Given the description of an element on the screen output the (x, y) to click on. 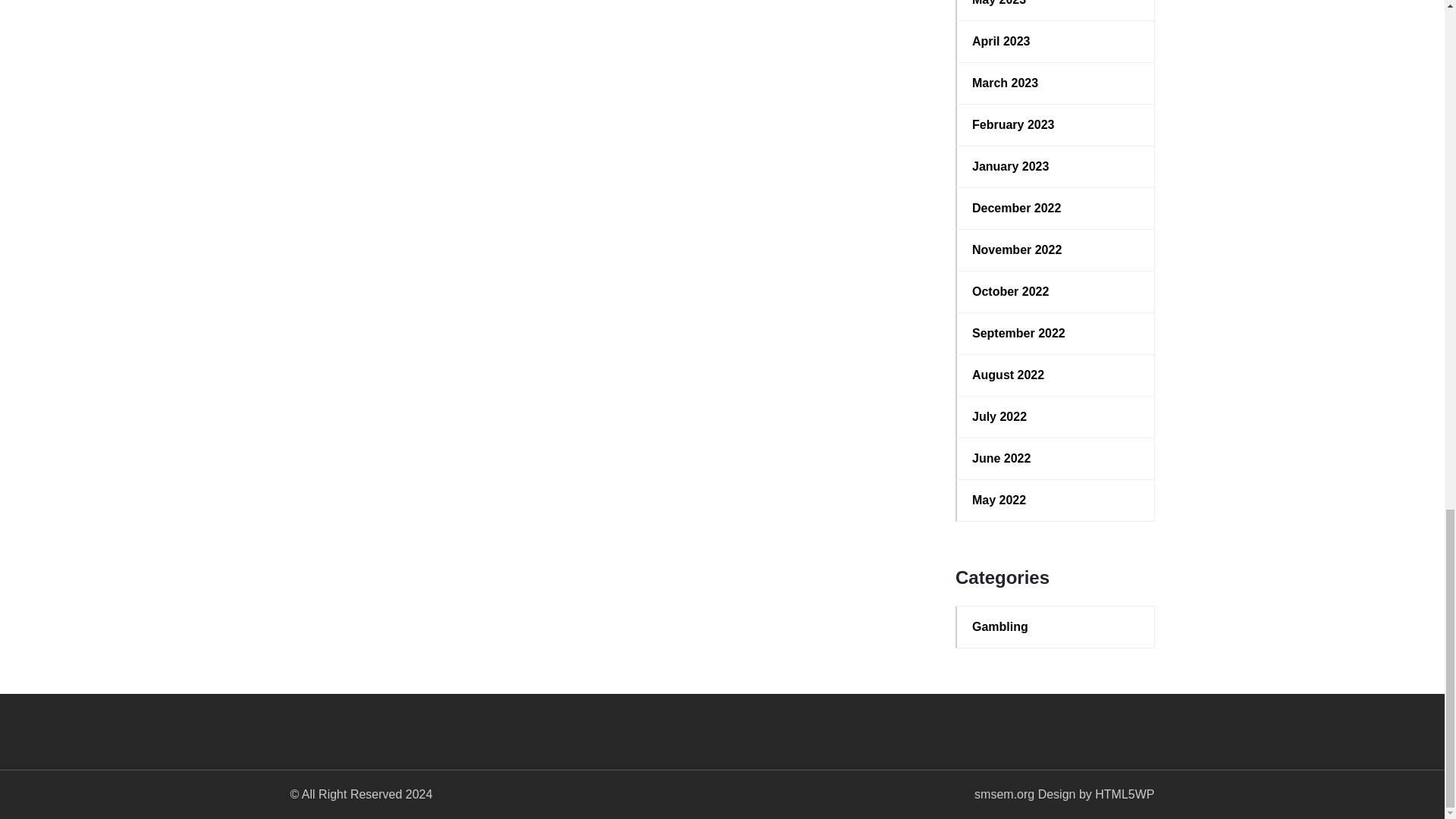
February 2023 (1055, 125)
November 2022 (1055, 249)
October 2022 (1055, 291)
August 2022 (1055, 375)
May 2023 (1055, 4)
April 2023 (1055, 41)
June 2022 (1055, 458)
July 2022 (1055, 416)
March 2023 (1055, 83)
December 2022 (1055, 208)
